Given the description of an element on the screen output the (x, y) to click on. 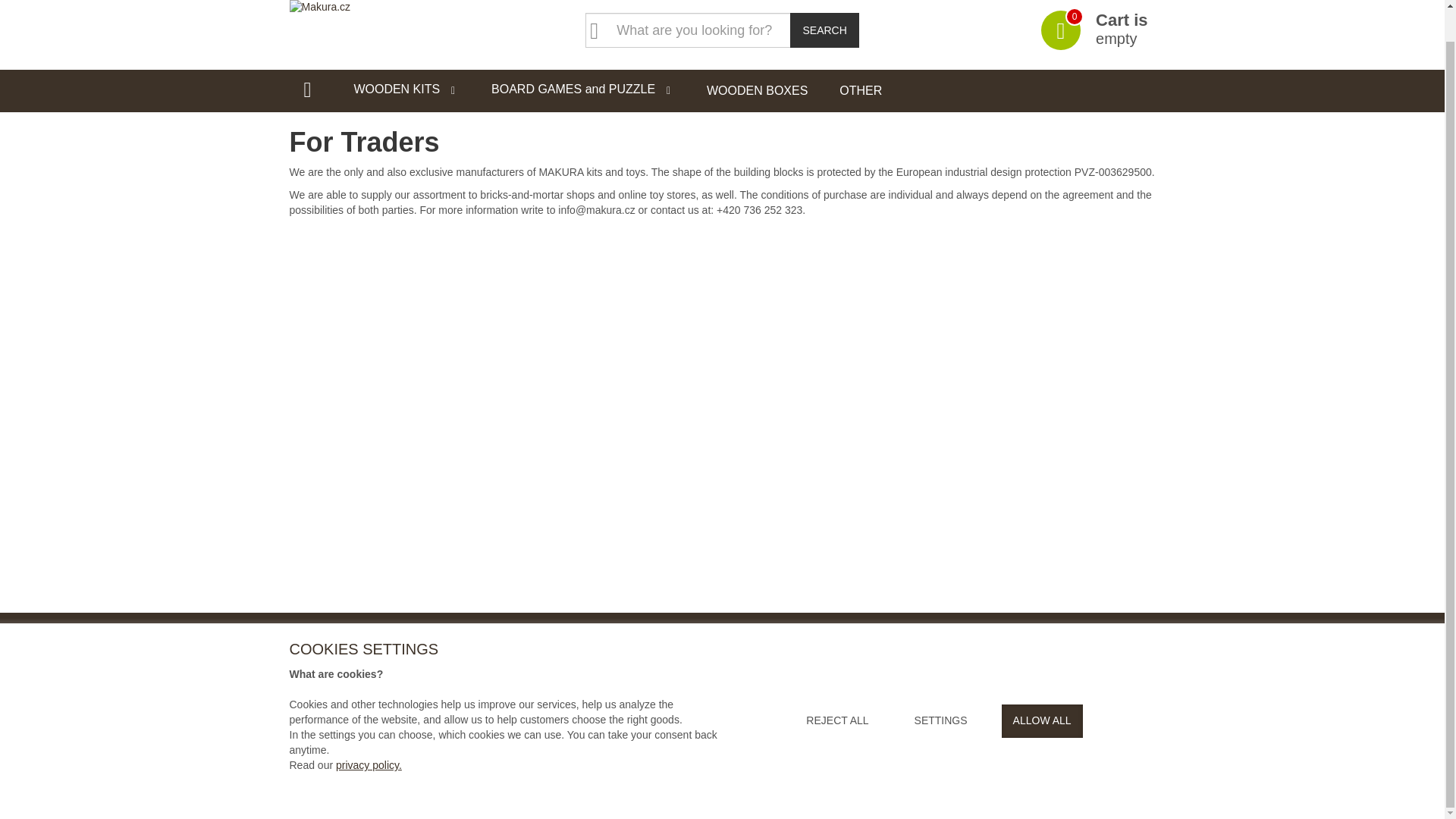
Search (824, 30)
WOODEN KITS (405, 89)
BOARD GAMES and PUZZLE (582, 89)
Search (1094, 28)
